Given the description of an element on the screen output the (x, y) to click on. 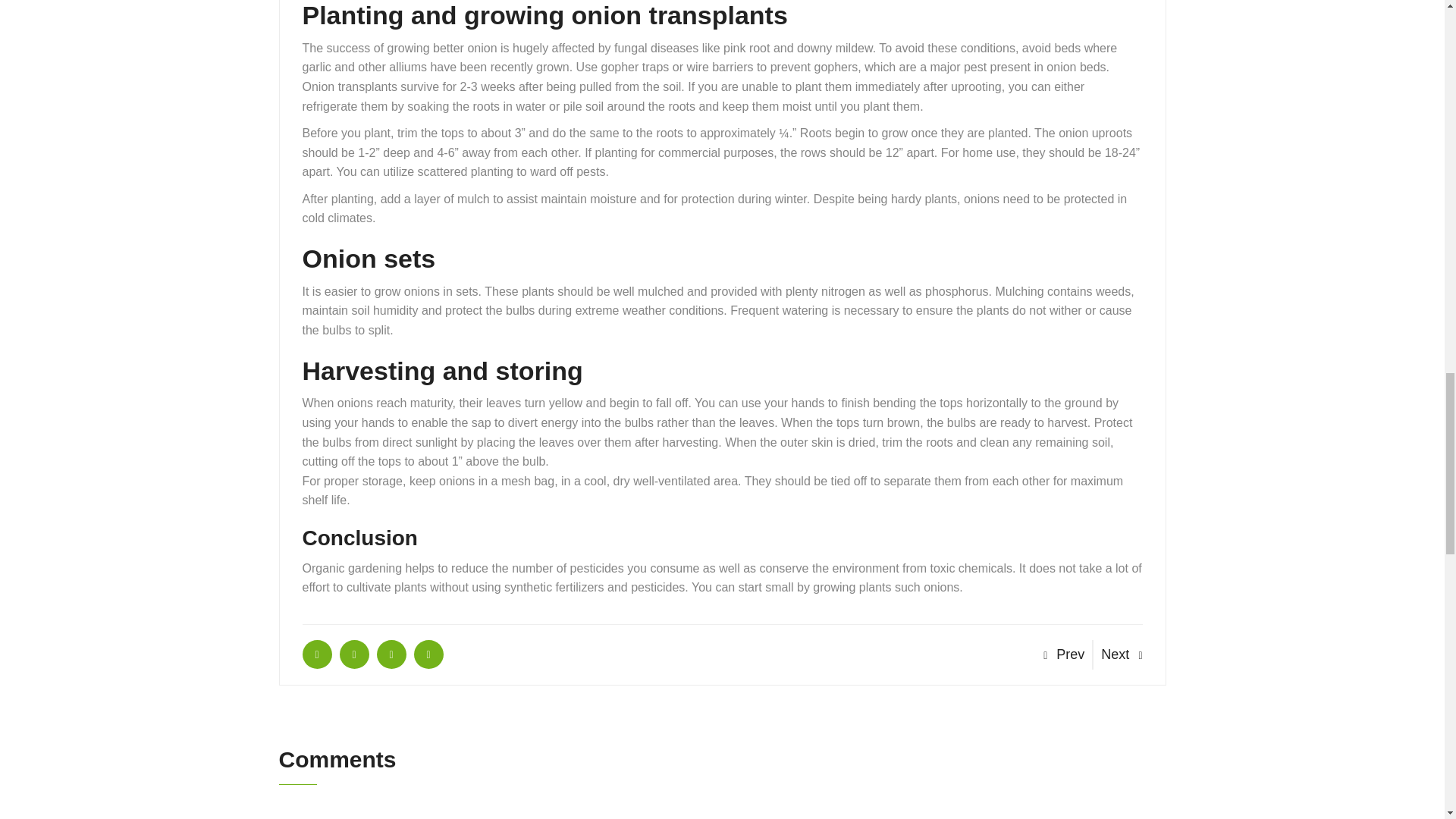
How to grow onions (316, 654)
